Given the description of an element on the screen output the (x, y) to click on. 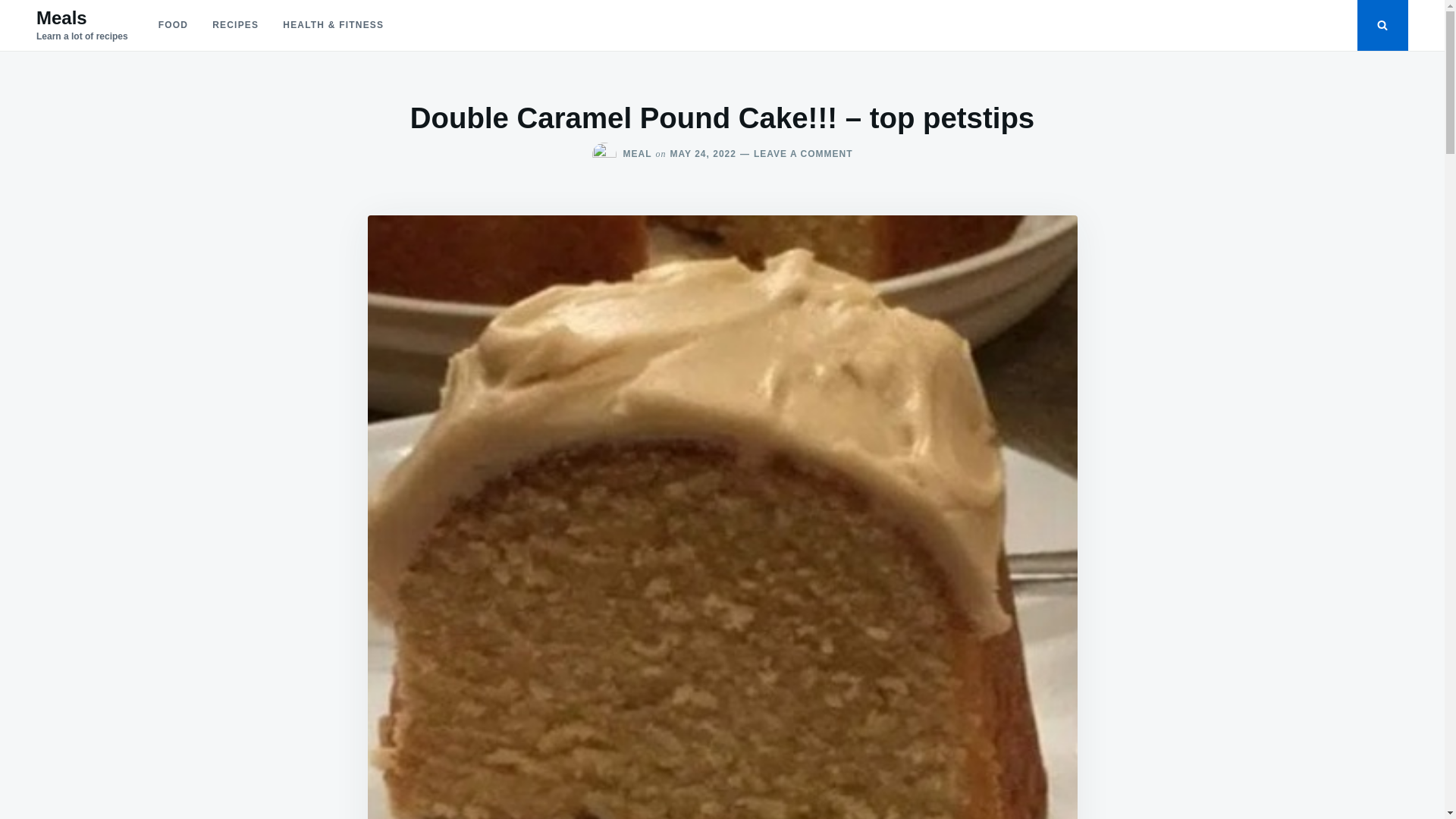
Meals (61, 17)
RECIPES (235, 25)
FOOD (173, 25)
MEAL (637, 153)
MAY 24, 2022 (702, 153)
